Given the description of an element on the screen output the (x, y) to click on. 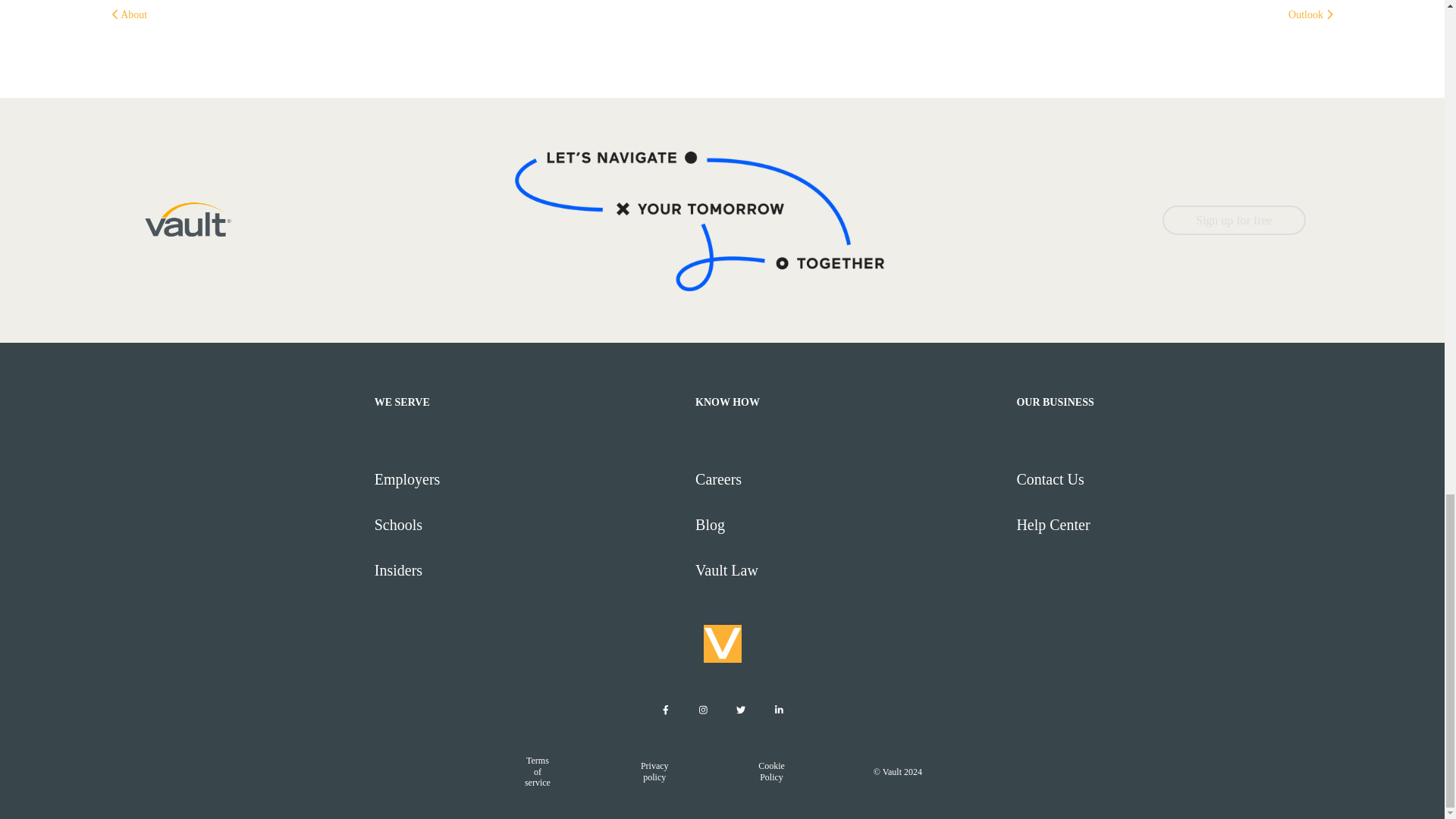
Vault Law (849, 570)
Careers (849, 478)
Insiders (528, 570)
Blog (849, 524)
Employers (528, 478)
Sign up for free (1233, 220)
Outlook (1310, 14)
Schools (528, 524)
About (129, 14)
